Given the description of an element on the screen output the (x, y) to click on. 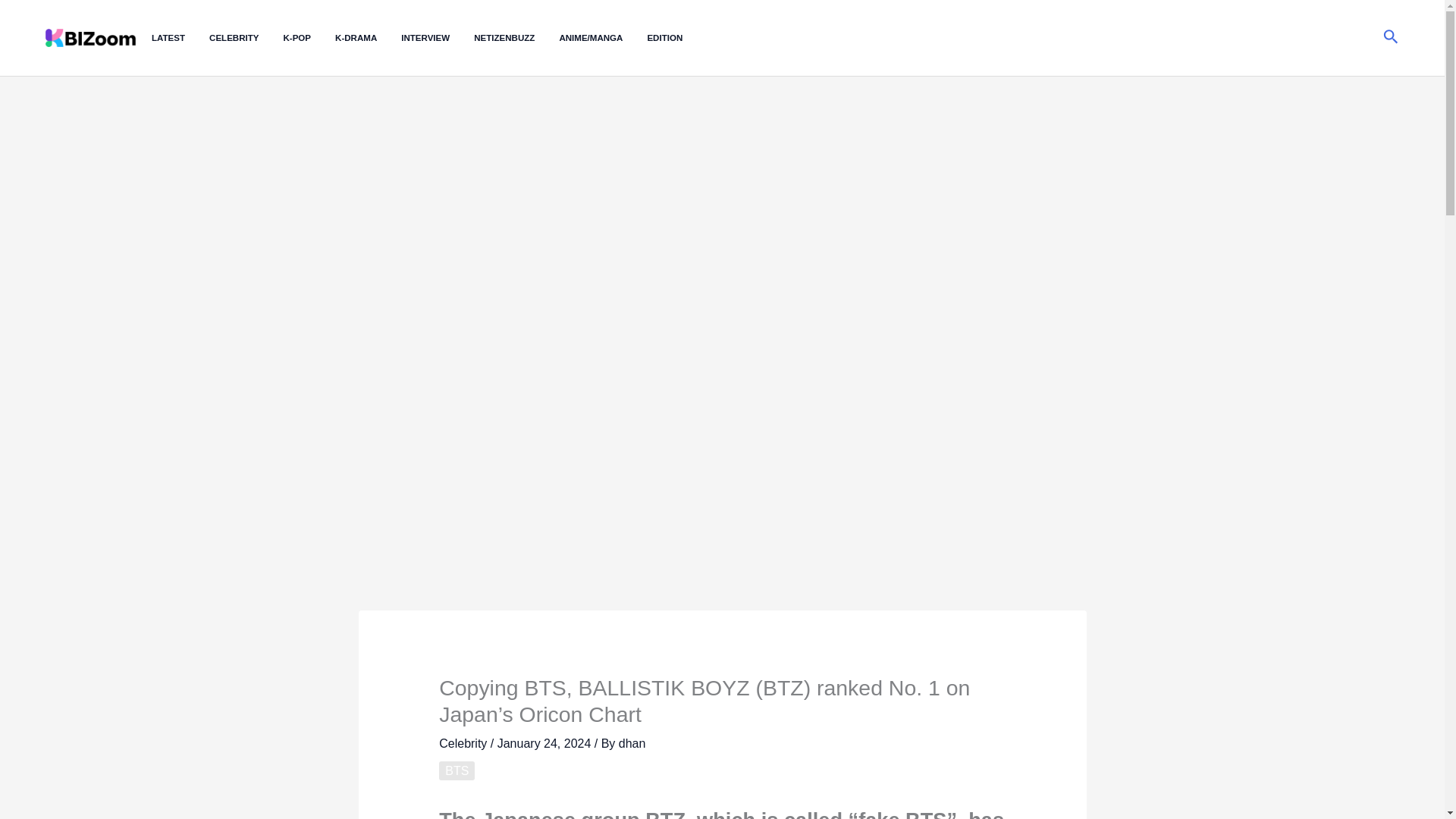
NETIZENBUZZ (516, 38)
BTS (456, 770)
INTERVIEW (437, 38)
CELEBRITY (245, 38)
View all posts by dhan (632, 743)
dhan (632, 743)
Celebrity (462, 743)
